Given the description of an element on the screen output the (x, y) to click on. 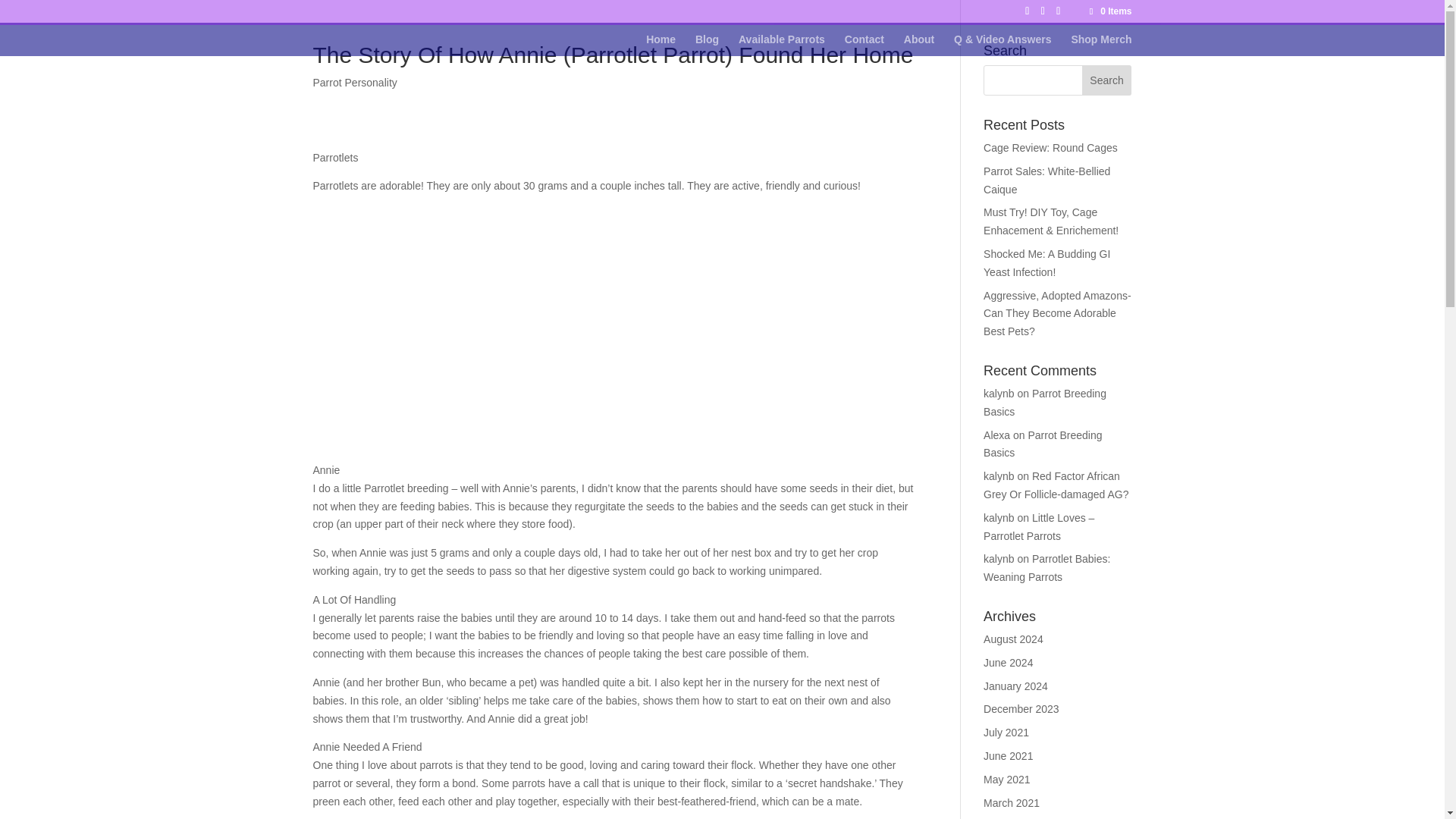
Available Parrots (781, 45)
Home (660, 45)
July 2021 (1006, 732)
About (919, 45)
Cage Review: Round Cages (1051, 147)
Red Factor African Grey Or Follicle-damaged AG? (1056, 485)
Parrot Breeding Basics (1045, 402)
June 2024 (1008, 662)
Shop Merch (1100, 45)
Parrot Personality (354, 82)
